Given the description of an element on the screen output the (x, y) to click on. 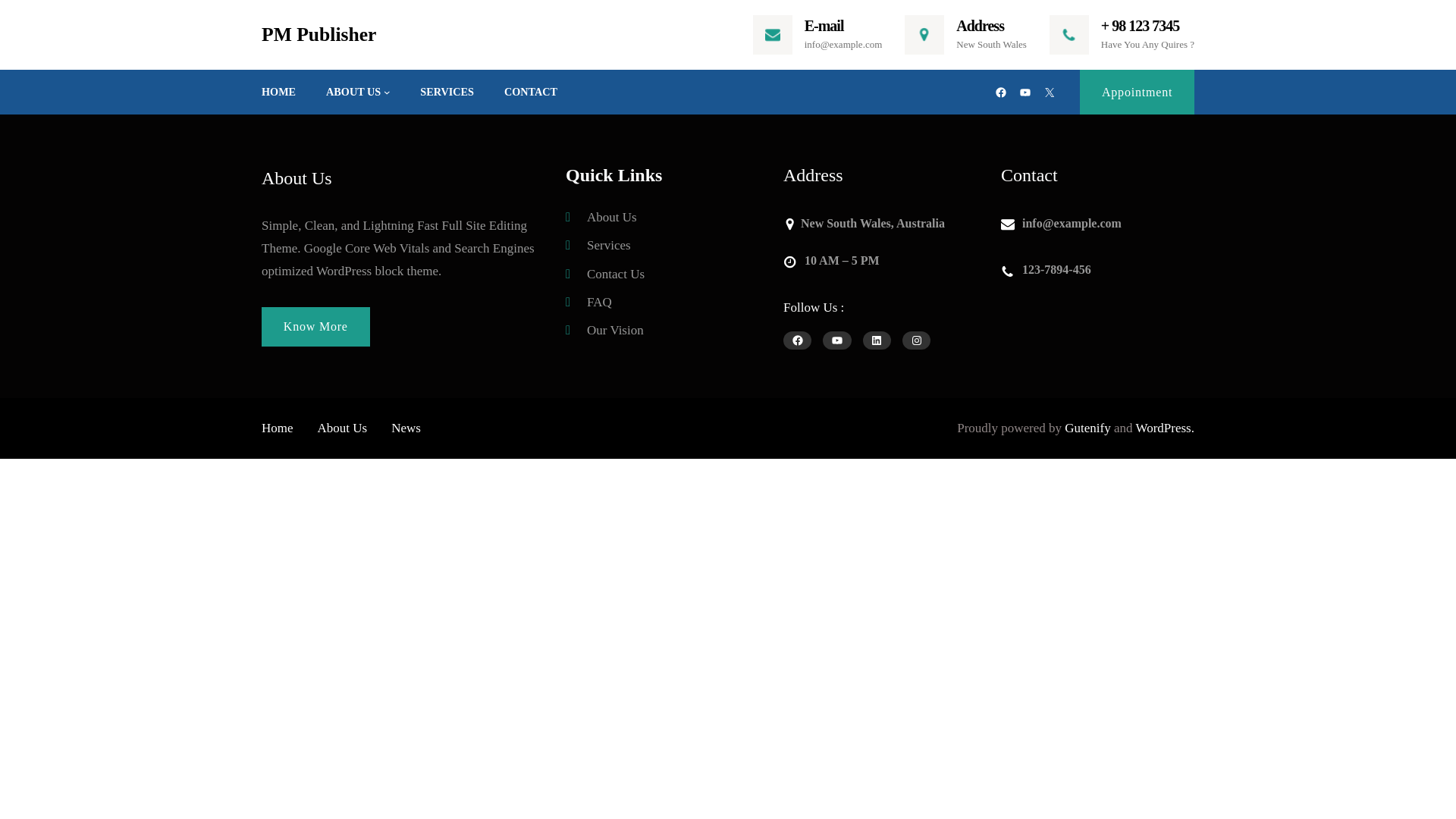
LinkedIn (877, 340)
HOME (278, 91)
PM Publisher (318, 36)
CONTACT (530, 91)
Address (980, 27)
E-mail (824, 27)
Know More (315, 327)
Appointment (1136, 91)
ABOUT US (353, 91)
Facebook (1000, 92)
X (1049, 92)
SERVICES (447, 91)
WordPress. (1165, 427)
Facebook (796, 340)
Gutenify (1086, 427)
